Given the description of an element on the screen output the (x, y) to click on. 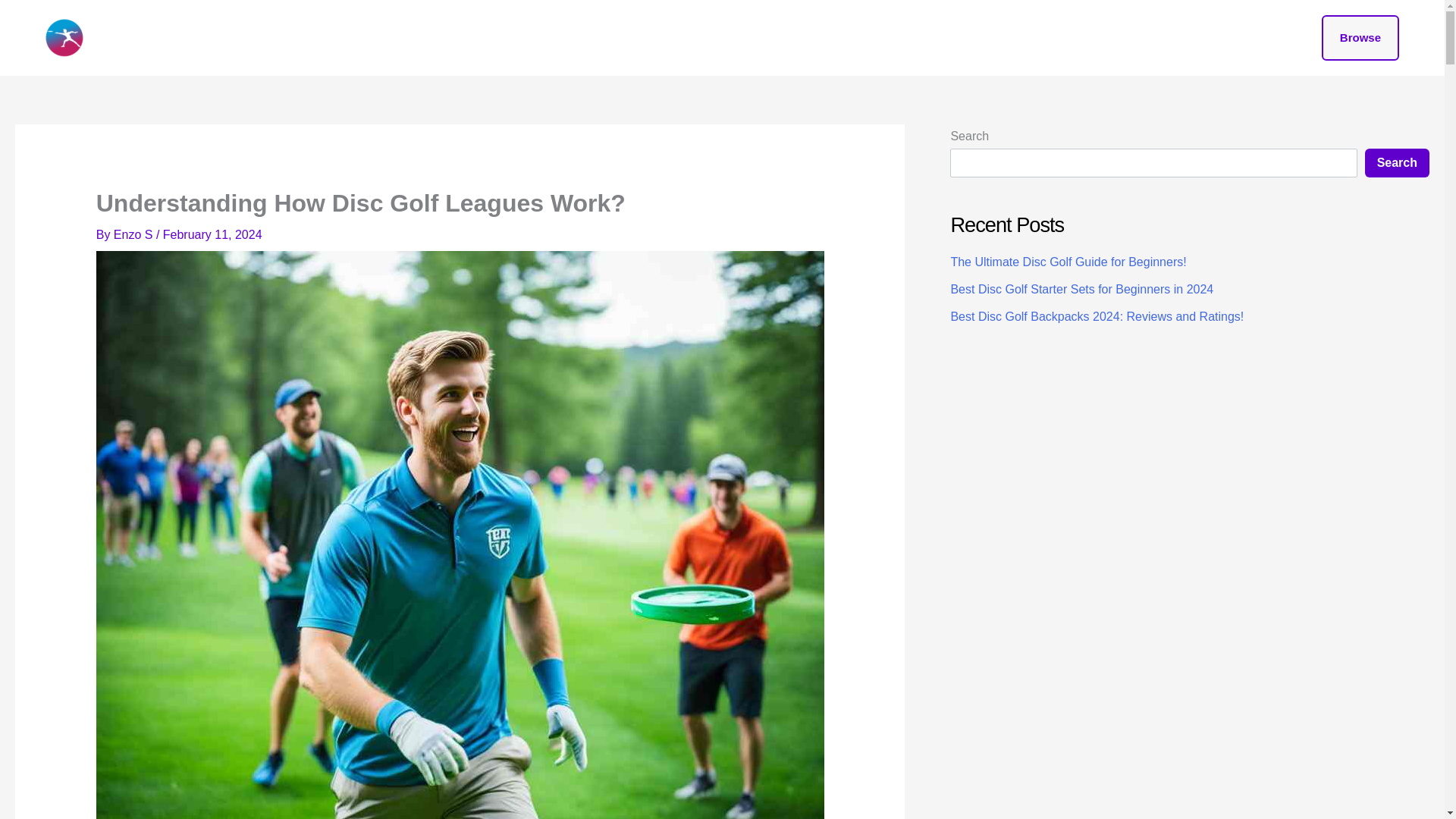
The Ultimate Disc Golf Guide for Beginners! (1068, 261)
Browse (1360, 37)
Disc Flight Pro (160, 37)
Our Offerings (664, 37)
Best Disc Golf Backpacks 2024: Reviews and Ratings! (1096, 316)
View all posts by Enzo S (132, 234)
Contact (801, 37)
Best Disc Golf Starter Sets for Beginners in 2024 (1081, 288)
Blog (591, 37)
Home (539, 37)
Search (1397, 162)
About (739, 37)
Enzo S (132, 234)
Privacy Policy (884, 37)
